Given the description of an element on the screen output the (x, y) to click on. 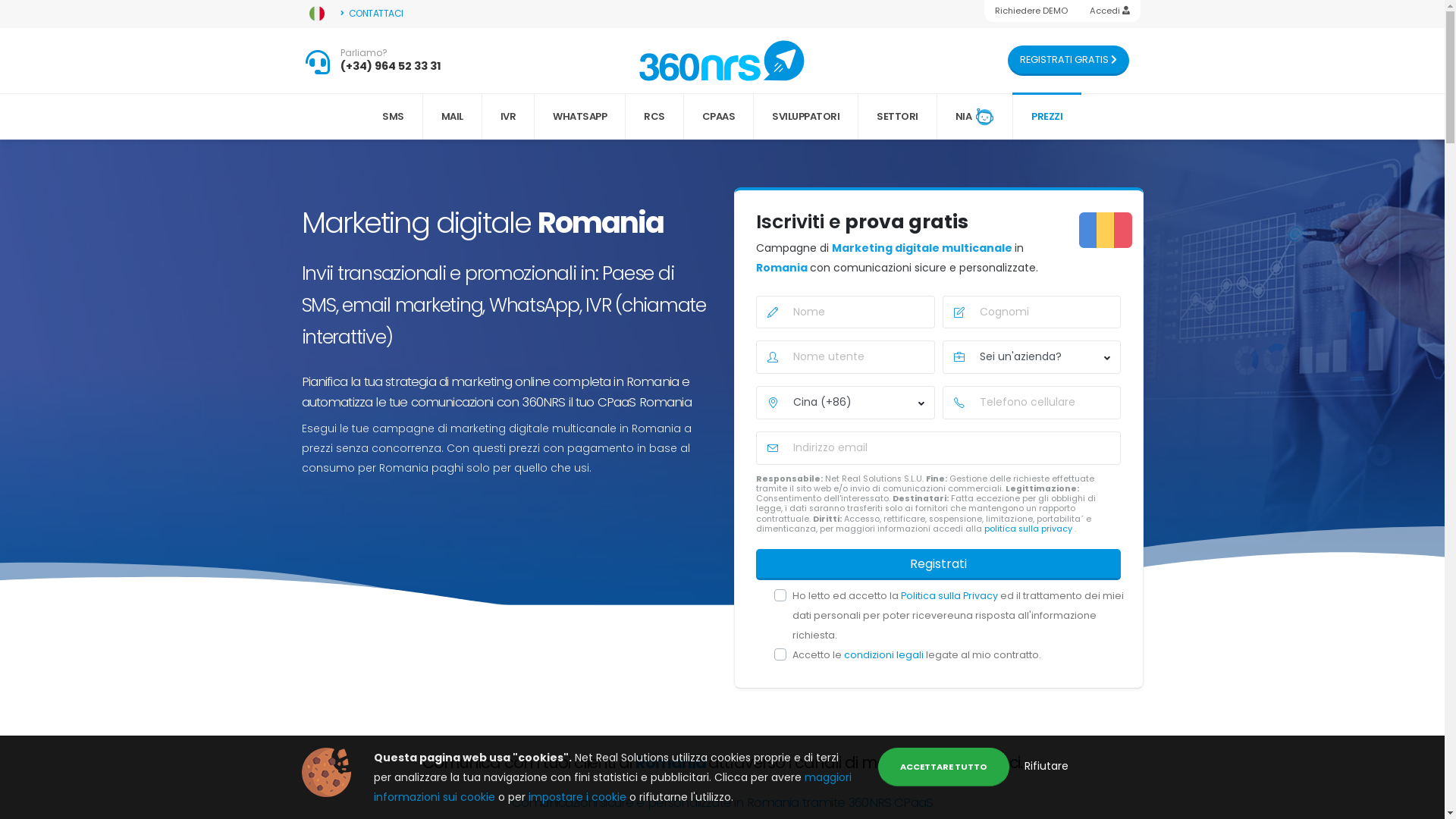
CPAAS Element type: text (719, 116)
SVILUPPATORI Element type: text (805, 116)
Registrati Element type: text (938, 564)
Richiedere DEMO Element type: text (1031, 10)
Politica sulla Privacy Element type: text (950, 595)
condizioni legali Element type: text (884, 654)
impostare i cookie Element type: text (577, 796)
ACCETTARE TUTTO Element type: text (943, 766)
IVR Element type: text (508, 116)
(+34) 964 52 33 31 Element type: text (390, 65)
SMS Element type: text (393, 116)
WHATSAPP Element type: text (579, 116)
CONTATTACI Element type: text (372, 13)
MAIL Element type: text (452, 116)
politica sulla privacy Element type: text (1029, 528)
PREZZI Element type: text (1046, 116)
NIA Element type: text (975, 116)
Rifiutare Element type: text (1045, 765)
RCS Element type: text (654, 116)
maggiori informazioni sui cookie Element type: text (611, 786)
REGISTRATI GRATIS Element type: text (1068, 60)
SETTORI Element type: text (897, 116)
Accedi Element type: text (1108, 10)
